Given the description of an element on the screen output the (x, y) to click on. 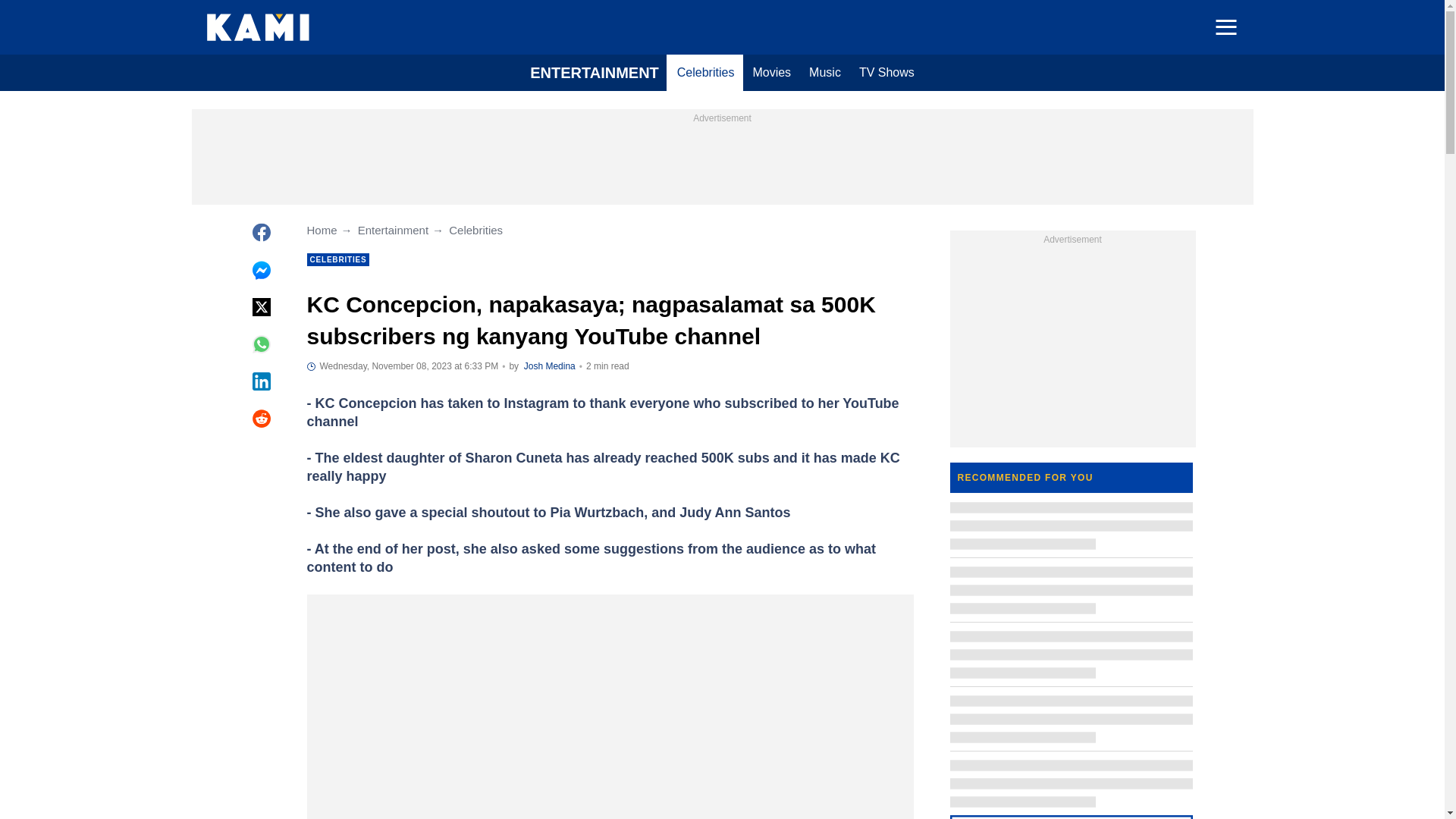
Movies (770, 72)
TV Shows (886, 72)
Music (824, 72)
Celebrities (706, 72)
ENTERTAINMENT (594, 72)
Author page (549, 366)
